Given the description of an element on the screen output the (x, y) to click on. 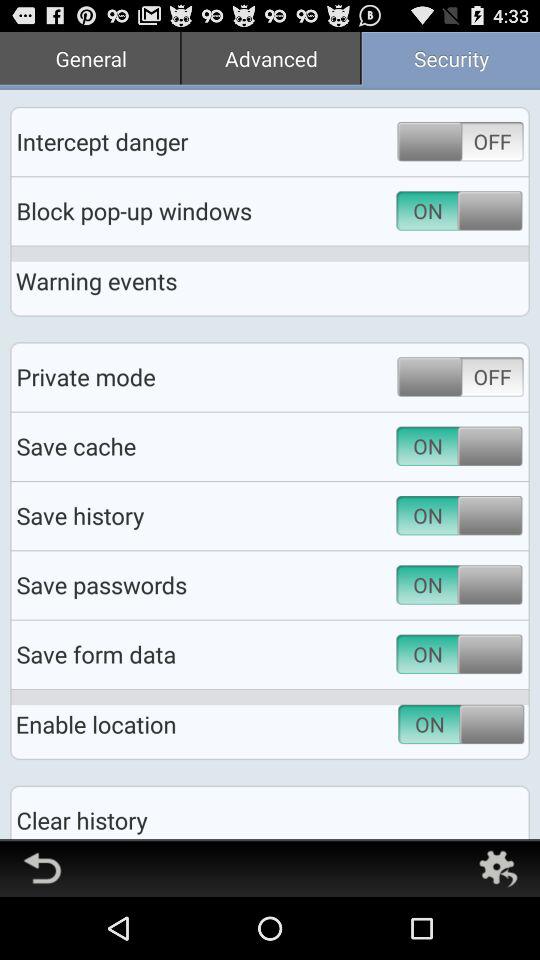
go back to settings (498, 868)
